Given the description of an element on the screen output the (x, y) to click on. 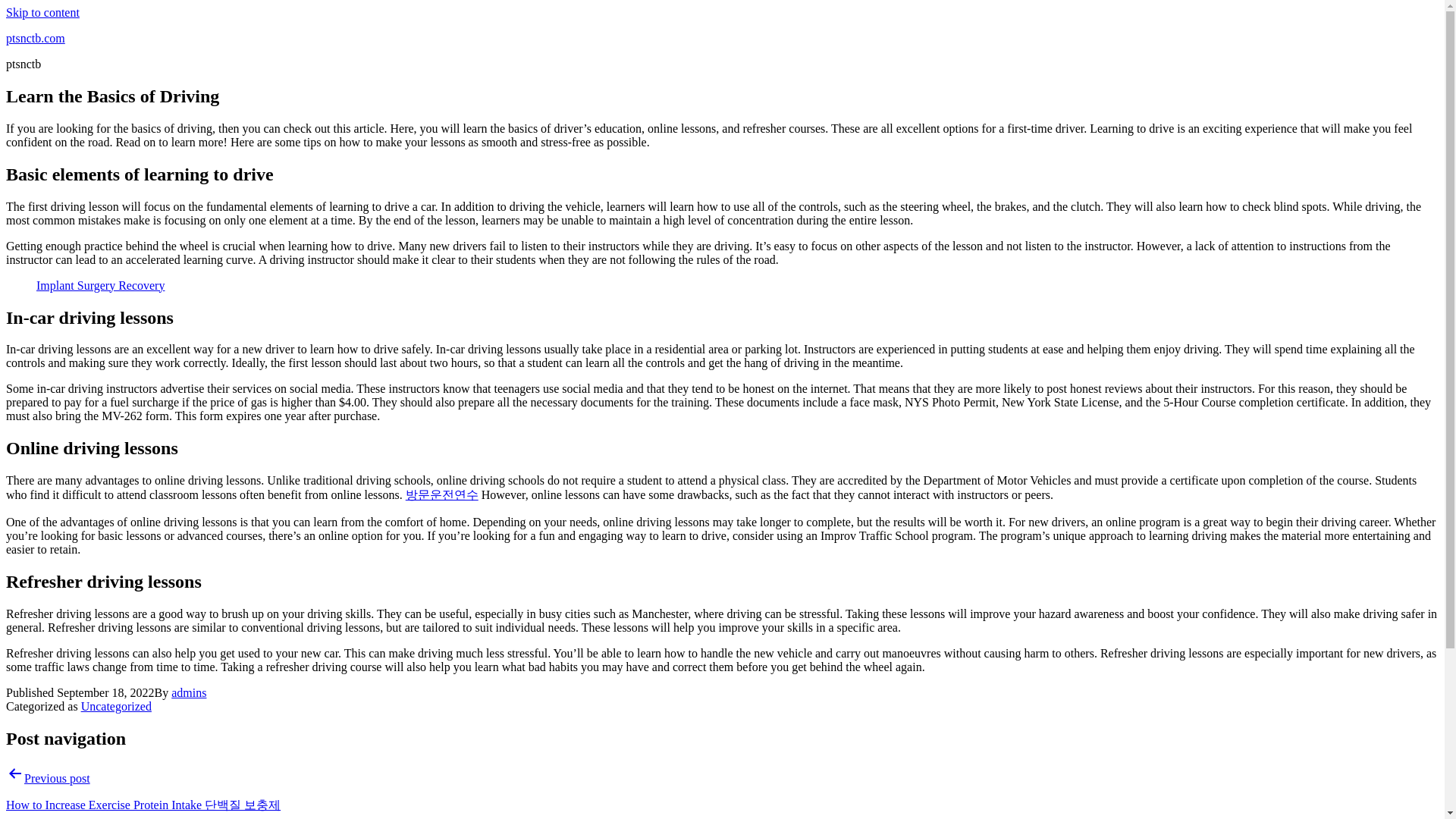
Implant Surgery Recovery (100, 285)
admins (188, 692)
Skip to content (42, 11)
Uncategorized (116, 706)
ptsnctb.com (35, 38)
